Given the description of an element on the screen output the (x, y) to click on. 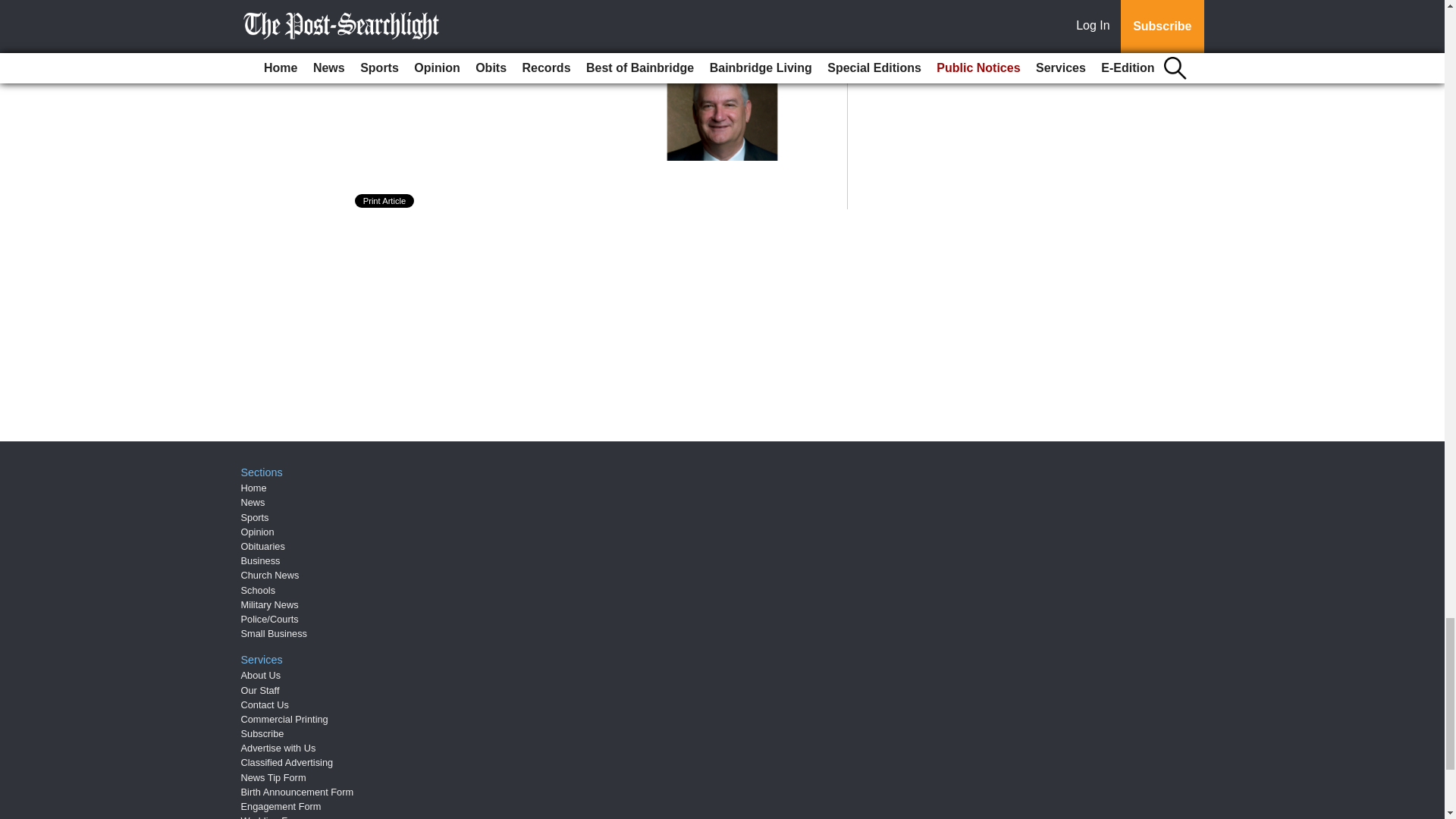
You will know when it is time. (481, 67)
